Given the description of an element on the screen output the (x, y) to click on. 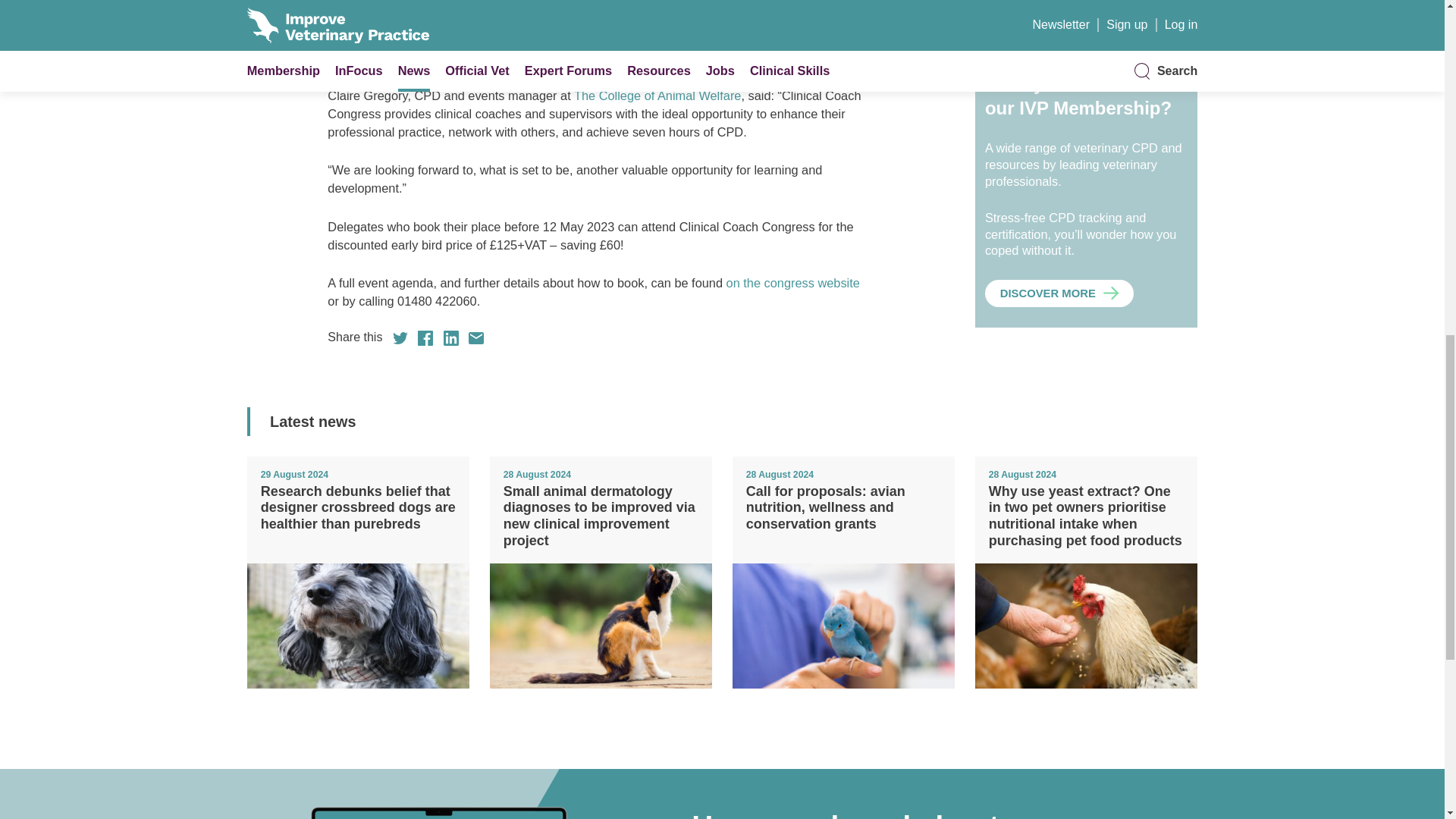
on the congress website (793, 282)
Share via Email (475, 337)
The College of Animal Welfare (657, 95)
Share on Facebook (424, 337)
Share on Twitter (400, 337)
Share on LinkedIn (451, 337)
